Given the description of an element on the screen output the (x, y) to click on. 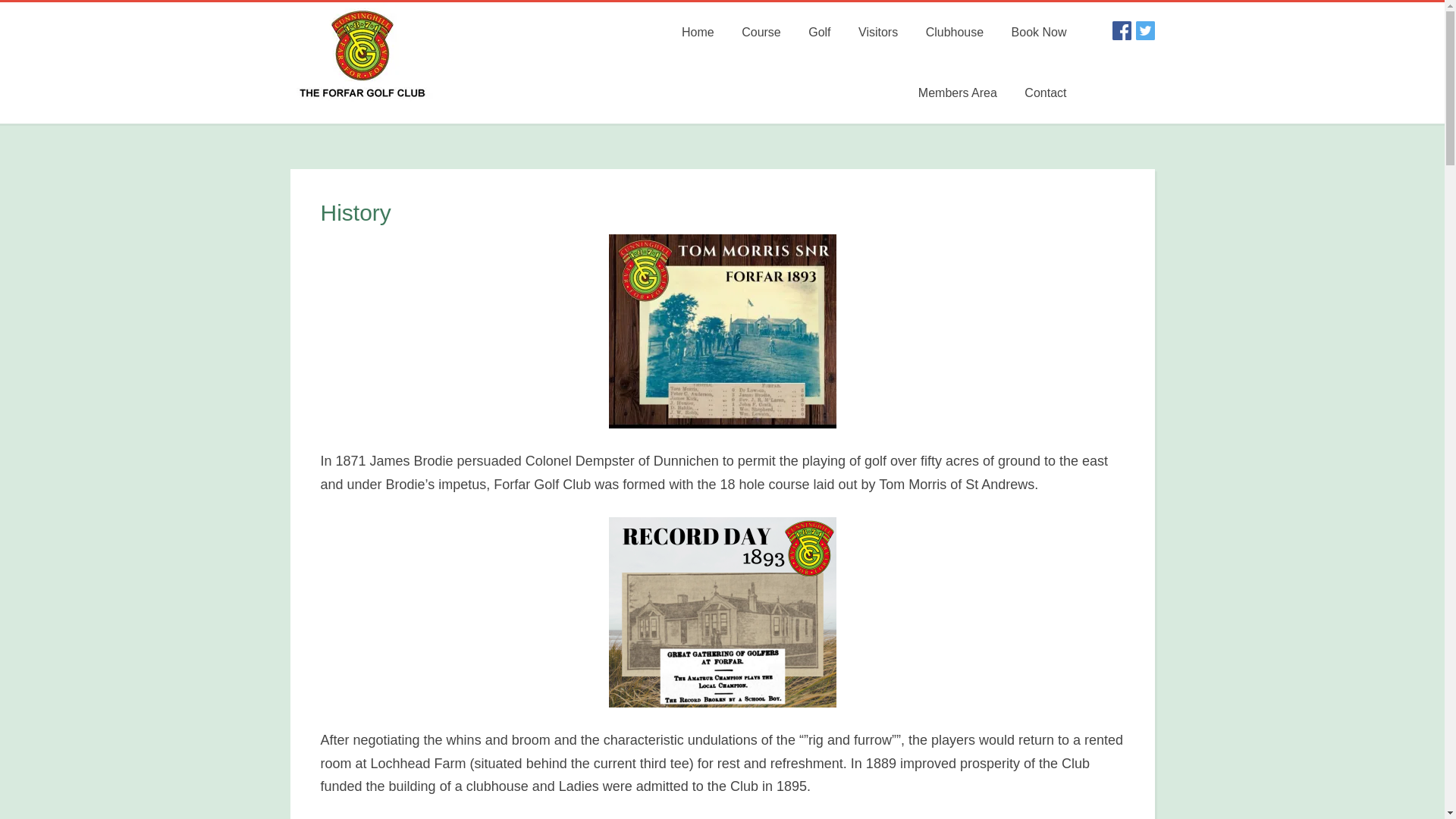
Contact (1044, 93)
Course (761, 32)
Visitors (877, 32)
Clubhouse (954, 32)
FORFAR GOLF CLUB (402, 62)
Home (697, 32)
Book Now (1038, 32)
Members Area (957, 93)
